Given the description of an element on the screen output the (x, y) to click on. 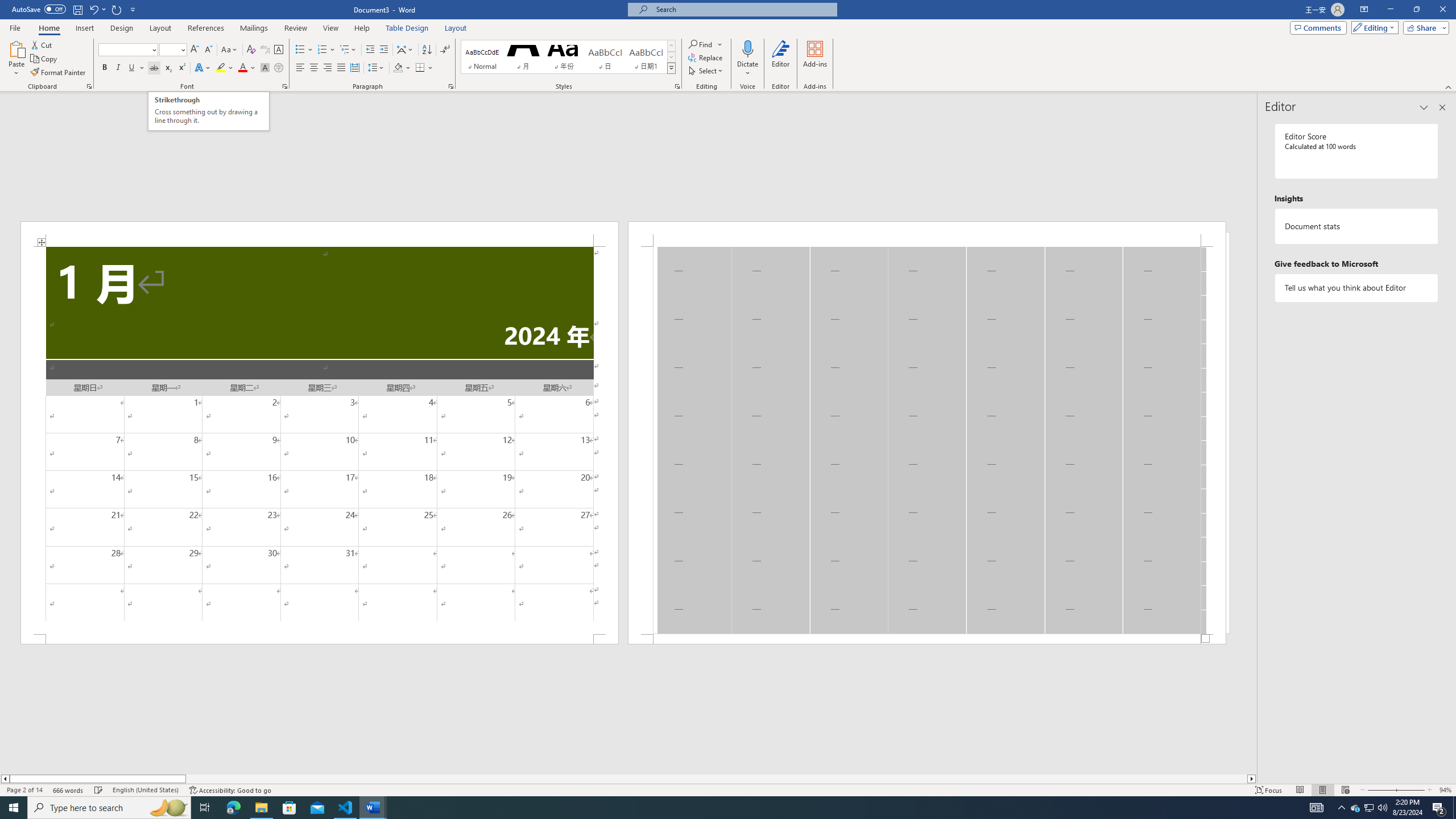
Font Color RGB(255, 0, 0) (241, 67)
